Given the description of an element on the screen output the (x, y) to click on. 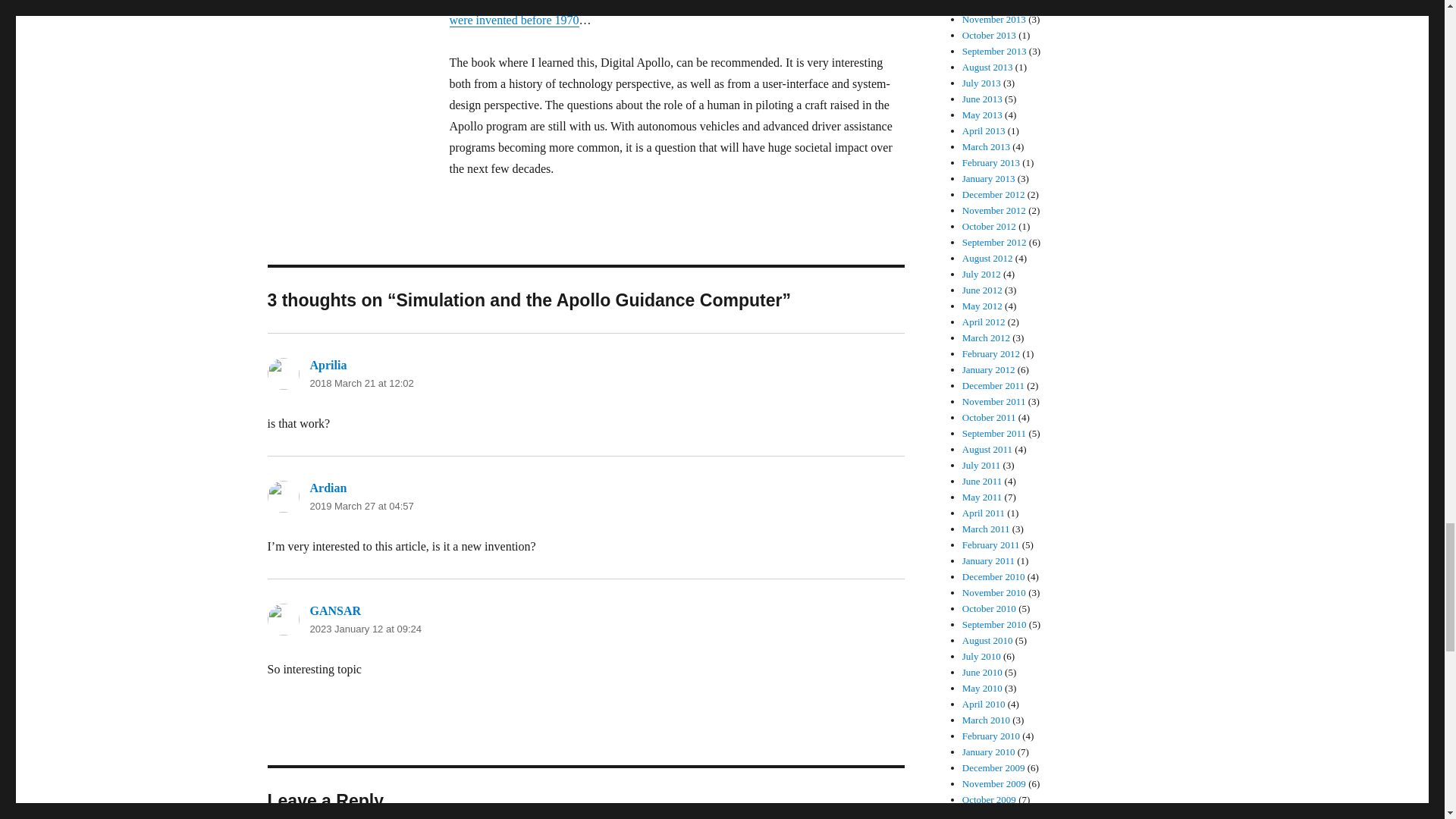
GANSAR (334, 610)
2019 March 27 at 04:57 (360, 505)
2018 March 21 at 12:02 (360, 383)
2023 January 12 at 09:24 (364, 628)
ost fundamental ideas in computing were invented before 1970 (667, 13)
Ardian (327, 487)
Aprilia (327, 364)
